Given the description of an element on the screen output the (x, y) to click on. 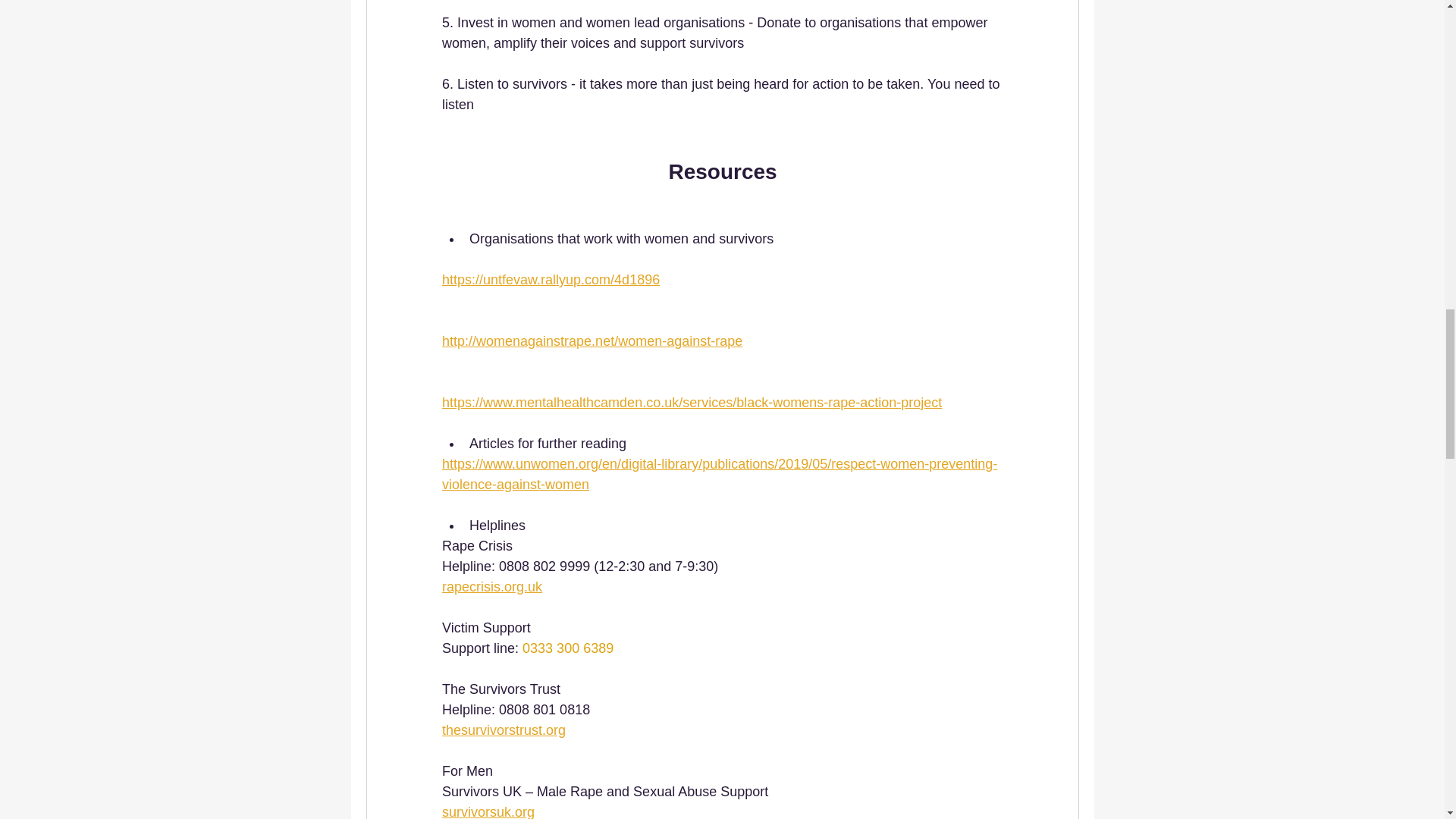
rapecrisis.org.uk (491, 586)
0333 300 6389 (567, 648)
thesurvivorstrust.org (502, 729)
survivorsuk.org (487, 811)
